Given the description of an element on the screen output the (x, y) to click on. 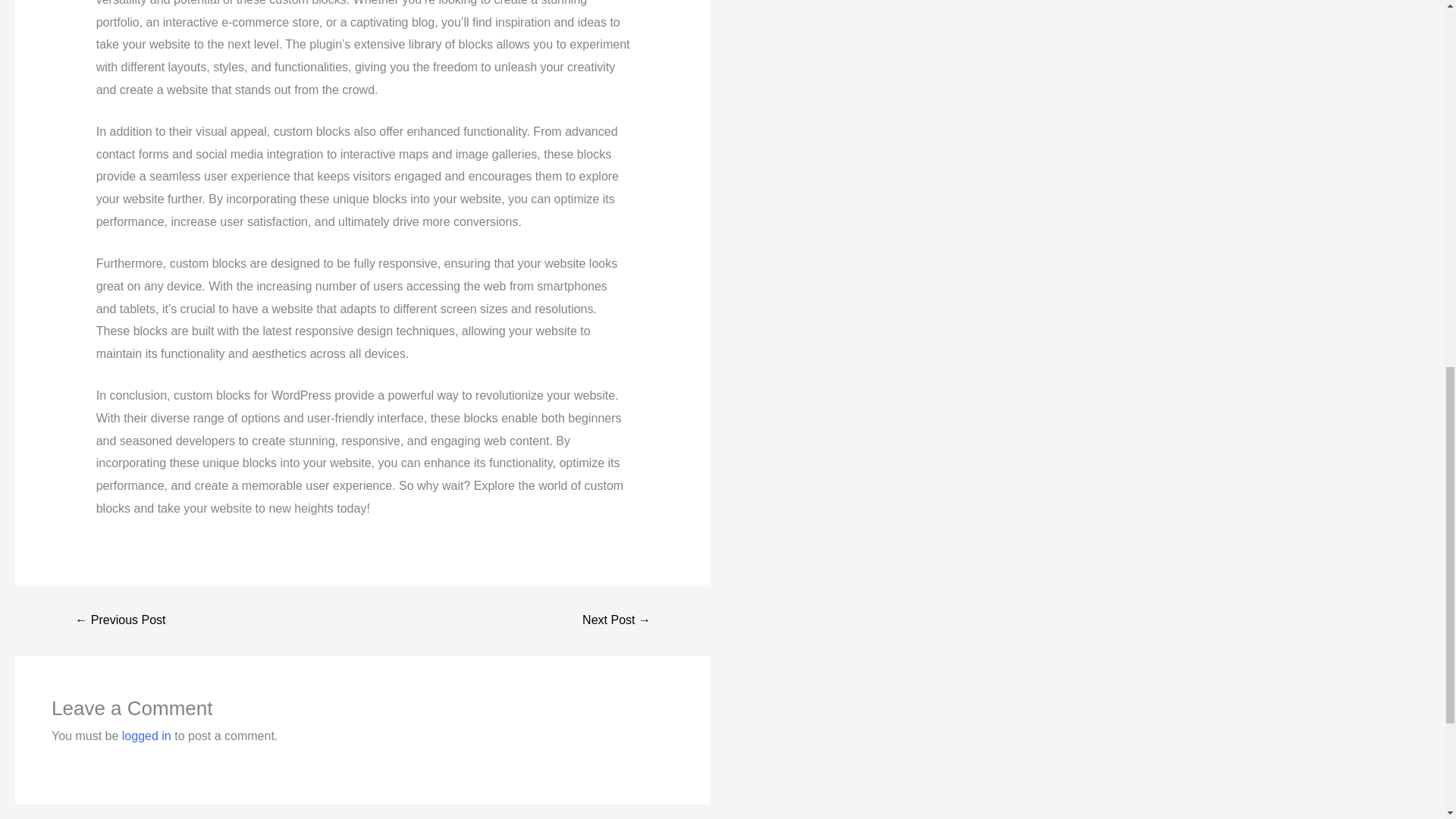
Exploring Advanced Block Design with Elementor (119, 620)
Customizing Elementor Blocks: Tips and Tricks (616, 620)
logged in (146, 735)
